Given the description of an element on the screen output the (x, y) to click on. 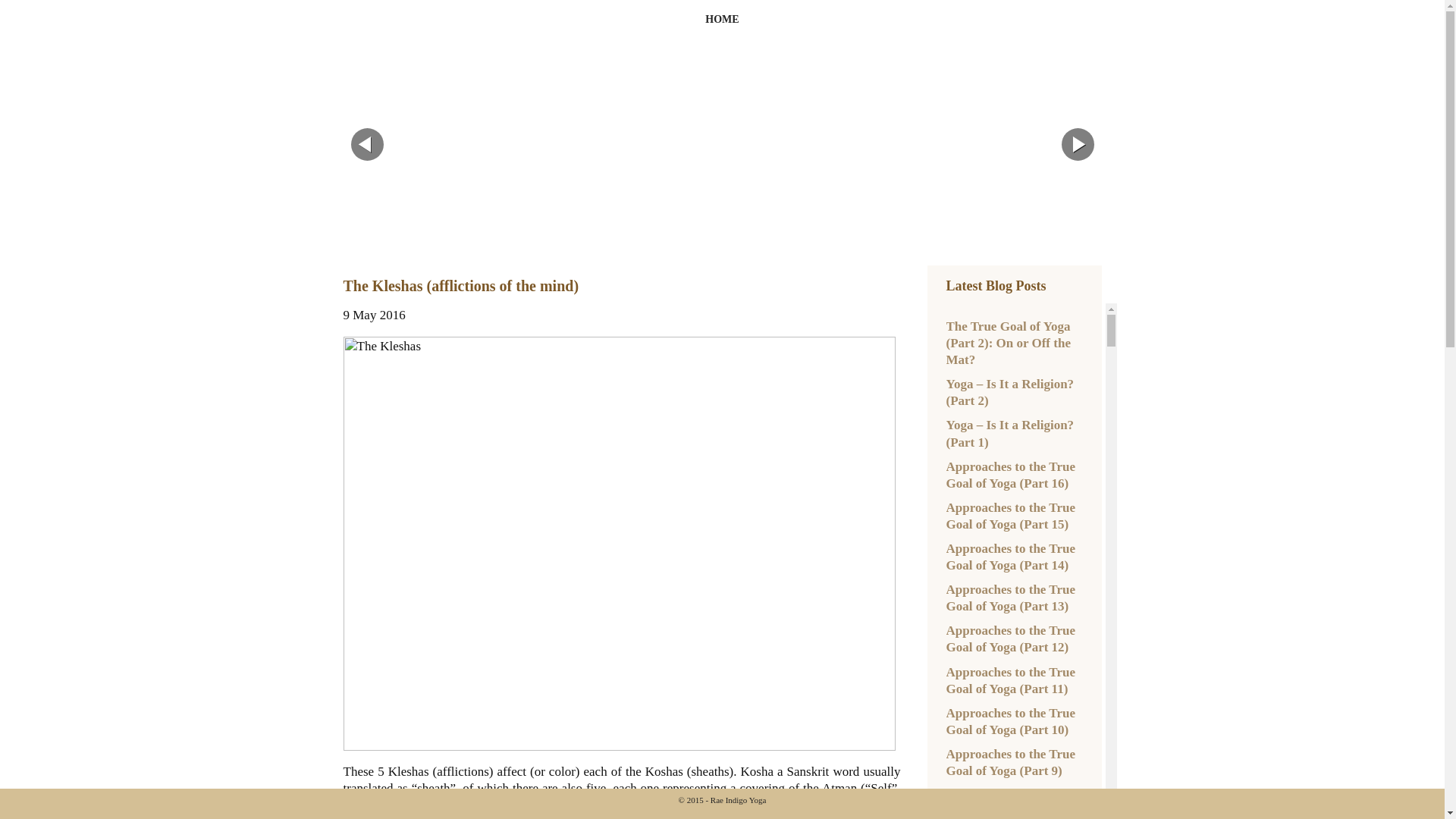
Next (1077, 143)
HOME (721, 18)
Previous (366, 143)
